Given the description of an element on the screen output the (x, y) to click on. 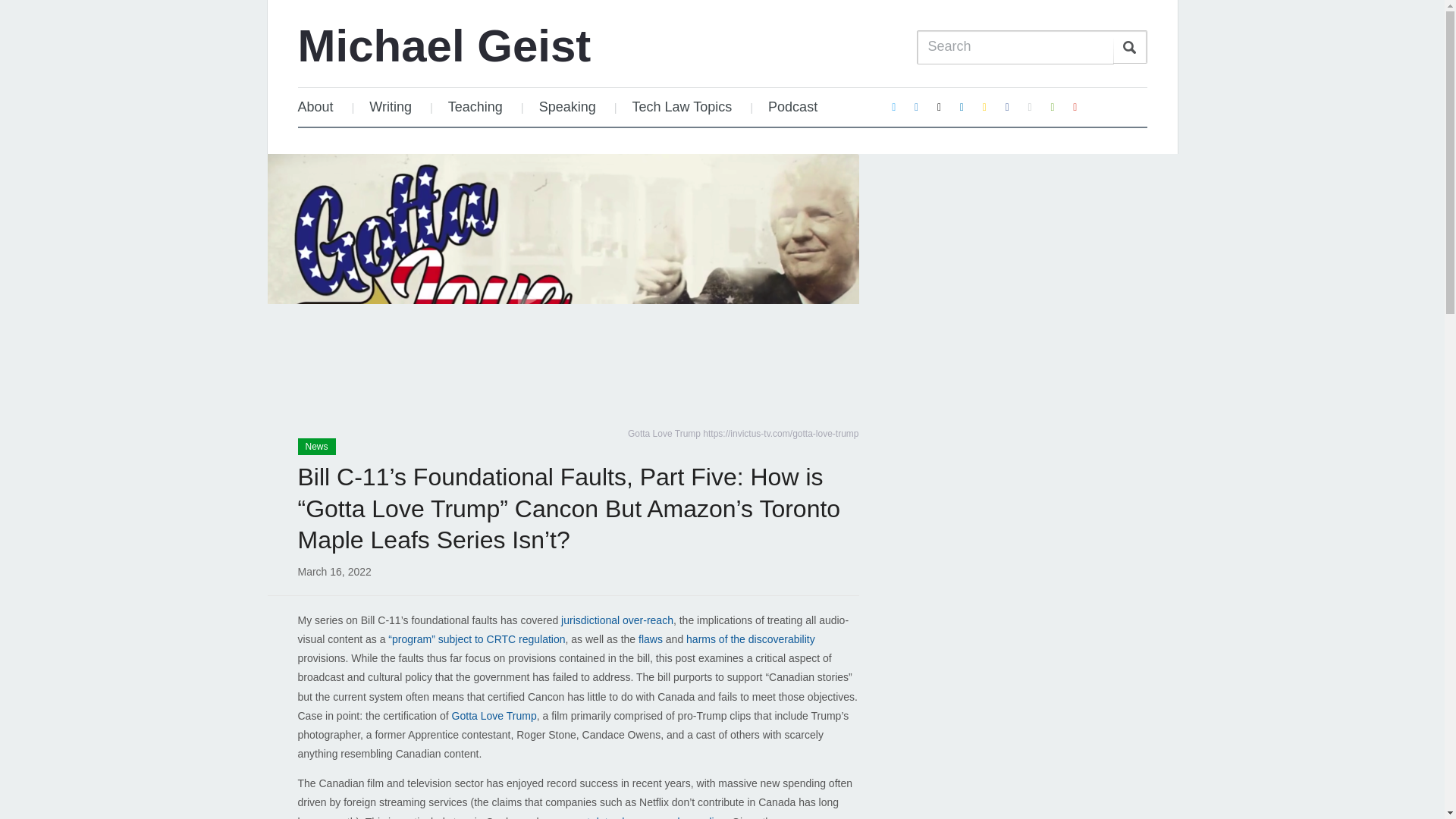
Default Label (1052, 106)
Facebook (1006, 106)
Default Label (916, 106)
Default Label (961, 106)
Podcast (792, 106)
Search (1130, 46)
twitter (893, 106)
Tech Law Topics (682, 106)
Default Label (1074, 106)
mail (939, 106)
